Given the description of an element on the screen output the (x, y) to click on. 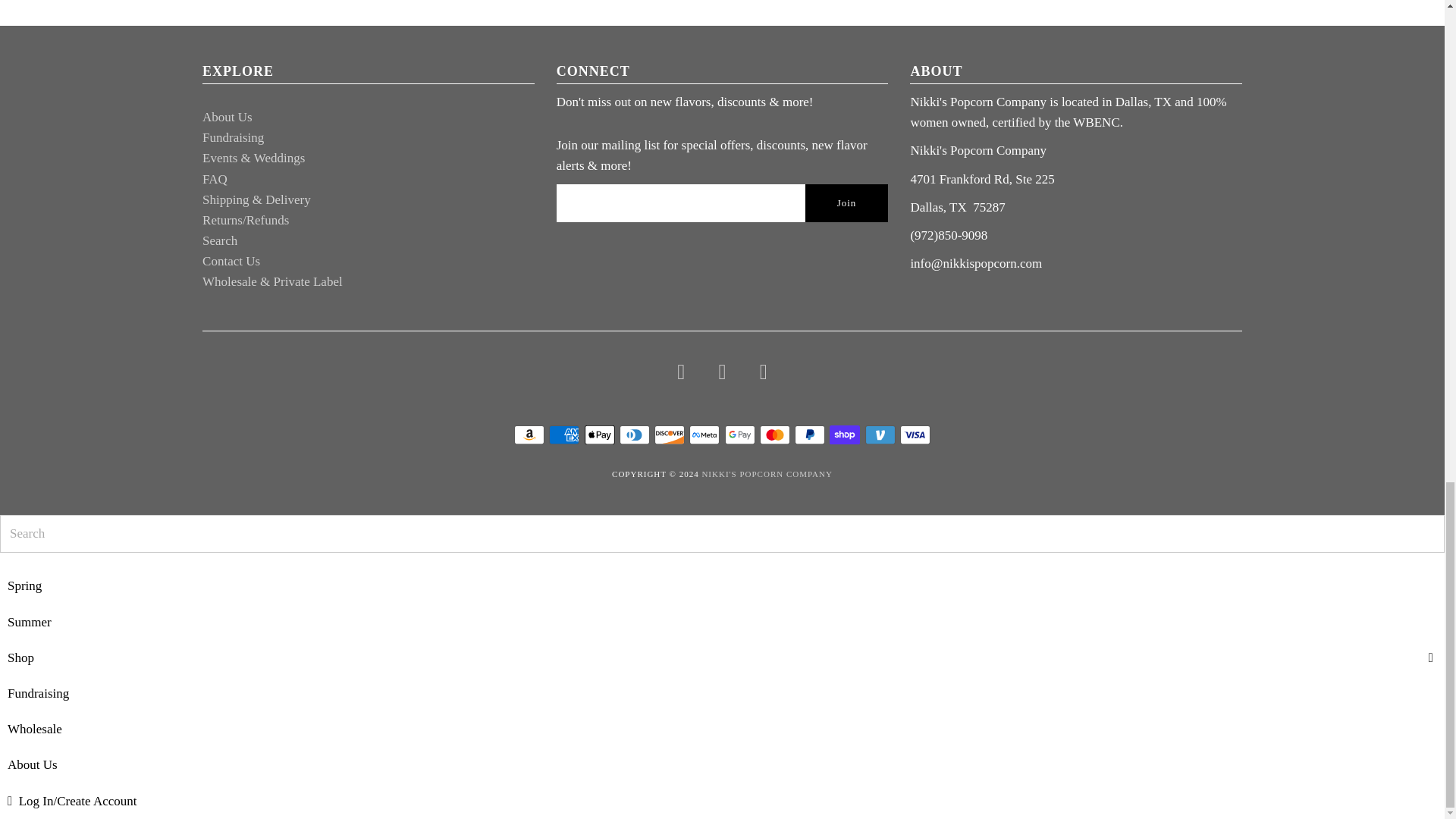
PayPal (809, 434)
Join (846, 202)
Shop Pay (844, 434)
Amazon (528, 434)
Google Pay (740, 434)
Mastercard (775, 434)
Apple Pay (599, 434)
Meta Pay (703, 434)
Diners Club (634, 434)
Venmo (879, 434)
Discover (668, 434)
American Express (563, 434)
Visa (914, 434)
